Given the description of an element on the screen output the (x, y) to click on. 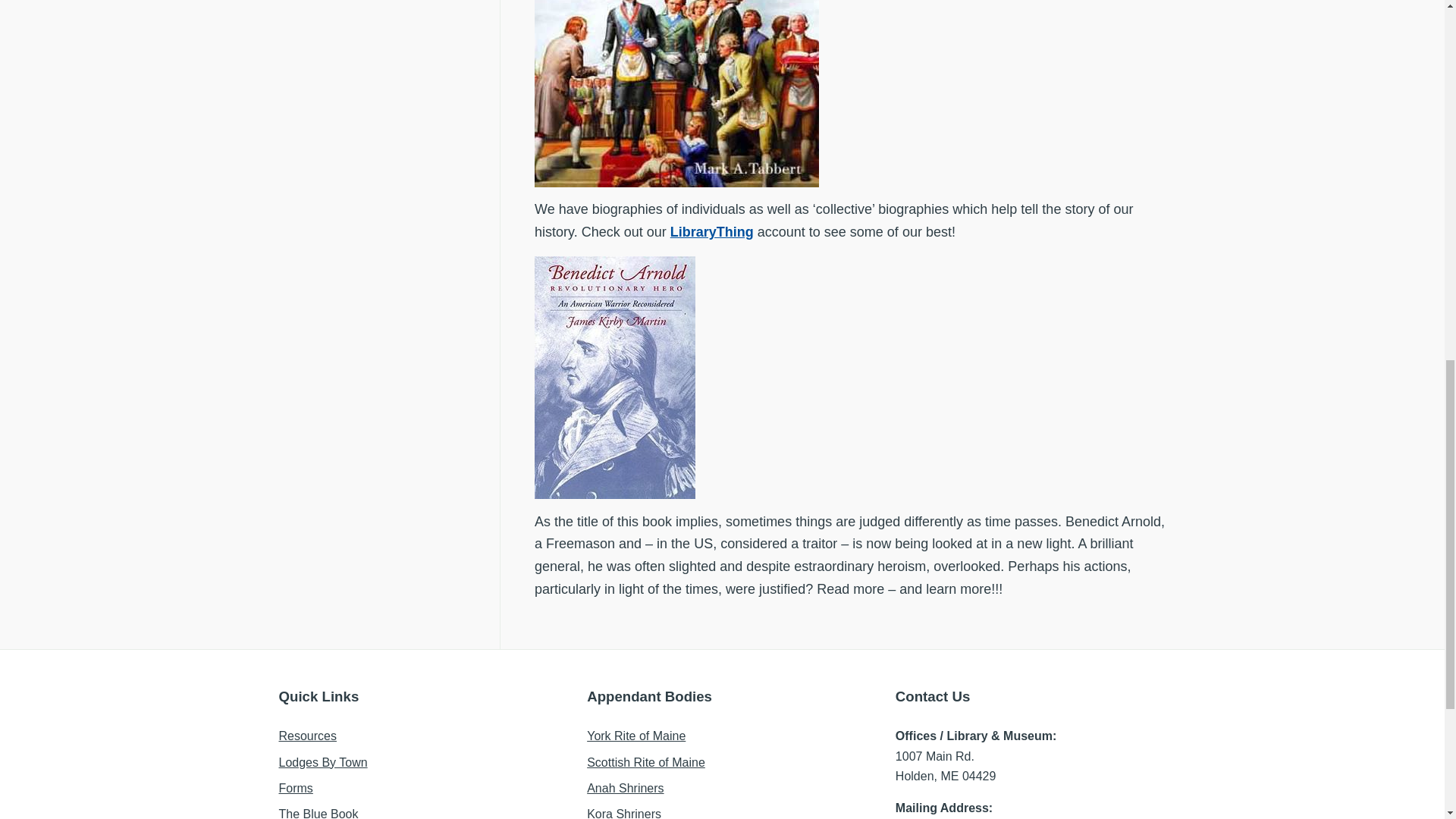
LibraryThing (711, 231)
The Blue Book (318, 813)
Forms (296, 788)
Lodges By Town (323, 762)
Resources (307, 735)
